Given the description of an element on the screen output the (x, y) to click on. 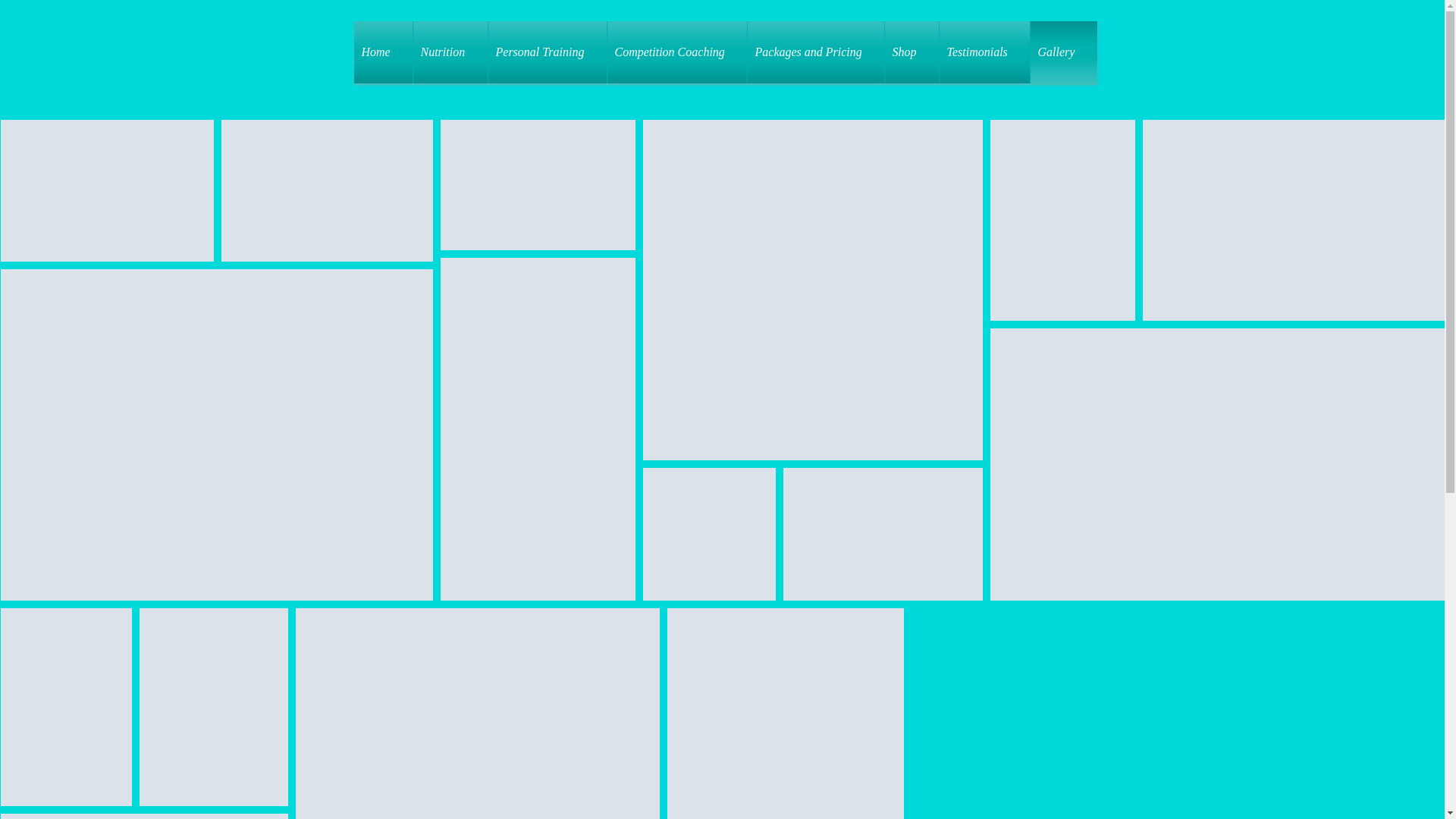
Home Element type: text (382, 52)
Gallery Element type: text (1062, 52)
Competition Coaching Element type: text (676, 52)
Packages and Pricing Element type: text (815, 52)
Nutrition Element type: text (449, 52)
Testimonials Element type: text (983, 52)
Personal Training Element type: text (547, 52)
Shop Element type: text (911, 52)
